Given the description of an element on the screen output the (x, y) to click on. 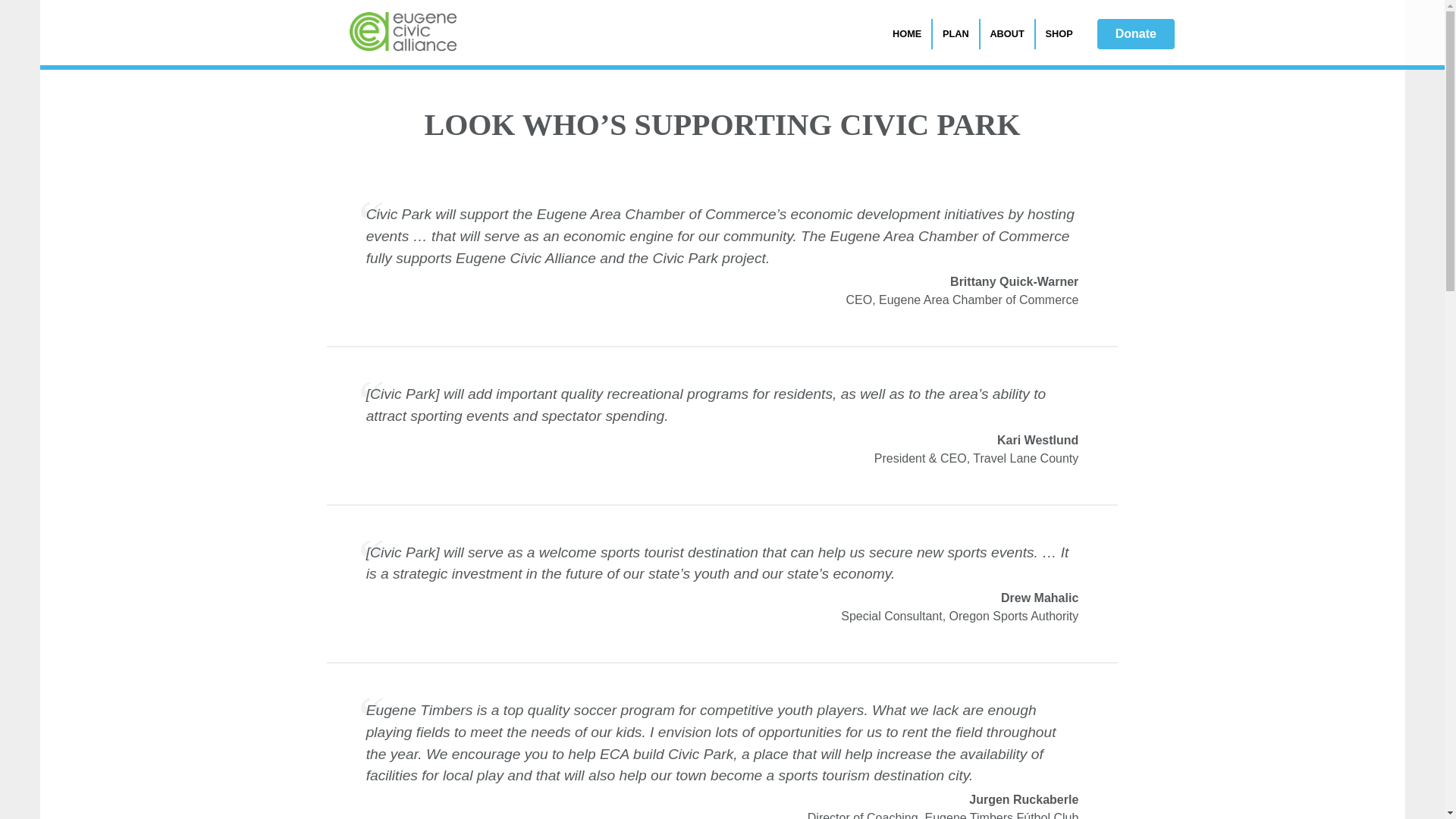
Donate (1135, 33)
HOME (906, 33)
ABOUT (1006, 33)
SHOP (1054, 33)
PLAN (955, 33)
